Given the description of an element on the screen output the (x, y) to click on. 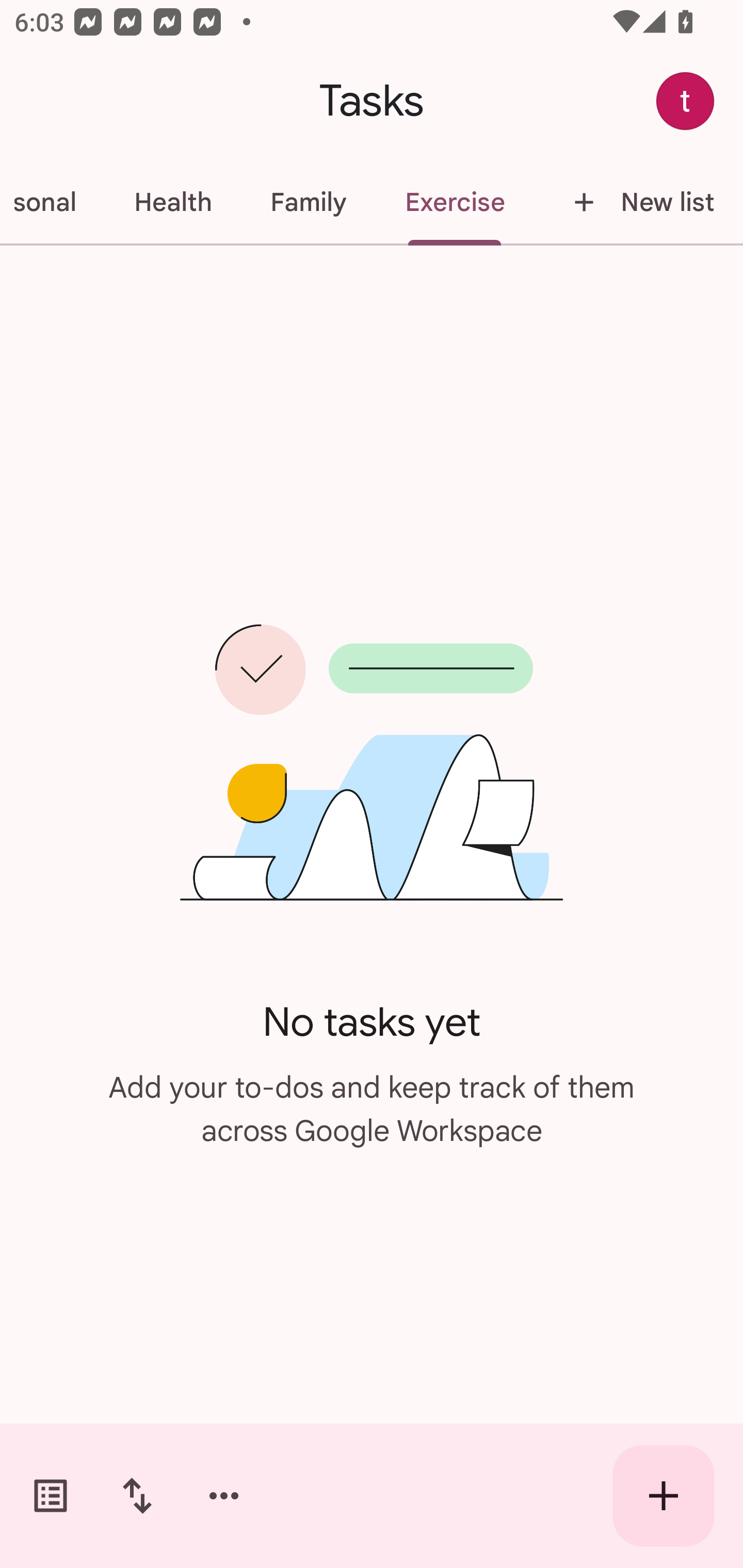
personal (52, 202)
Health (172, 202)
Family (307, 202)
New list (638, 202)
Switch task lists (50, 1495)
Create new task (663, 1495)
Change sort order (136, 1495)
More options (223, 1495)
